Given the description of an element on the screen output the (x, y) to click on. 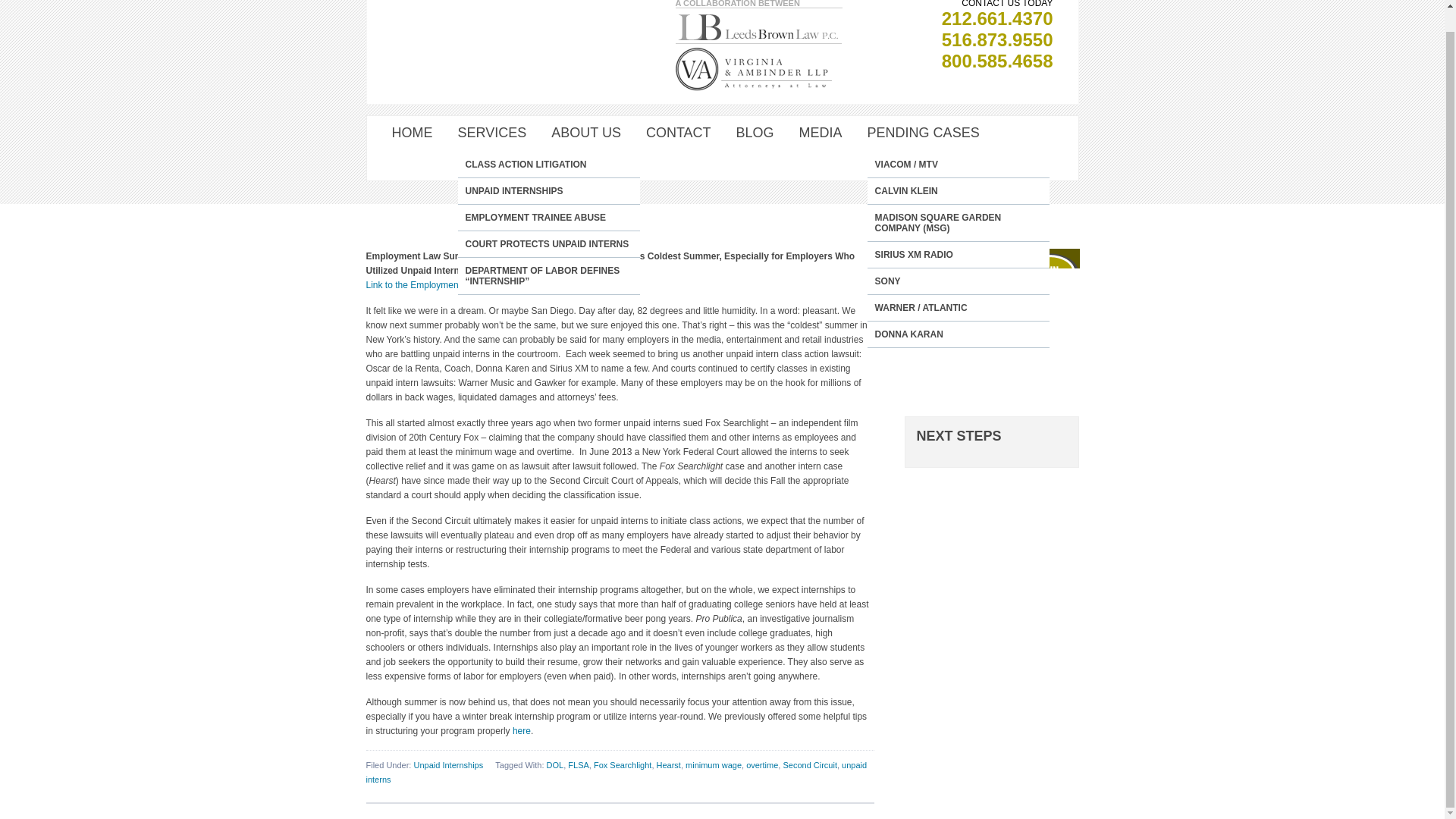
516.873.9550 (997, 39)
212.661.4370 (997, 18)
MEDIA (821, 132)
800.585.4658 (997, 60)
HOME (411, 132)
Unpaid Internships (448, 764)
BLOG (755, 132)
CLASS ACTION LITIGATION (549, 164)
Employment Matters Blog (453, 285)
CALVIN KLEIN (958, 190)
here (521, 730)
DONNA KARAN (958, 334)
Link to the Employment Matters Blog Article (453, 285)
